Given the description of an element on the screen output the (x, y) to click on. 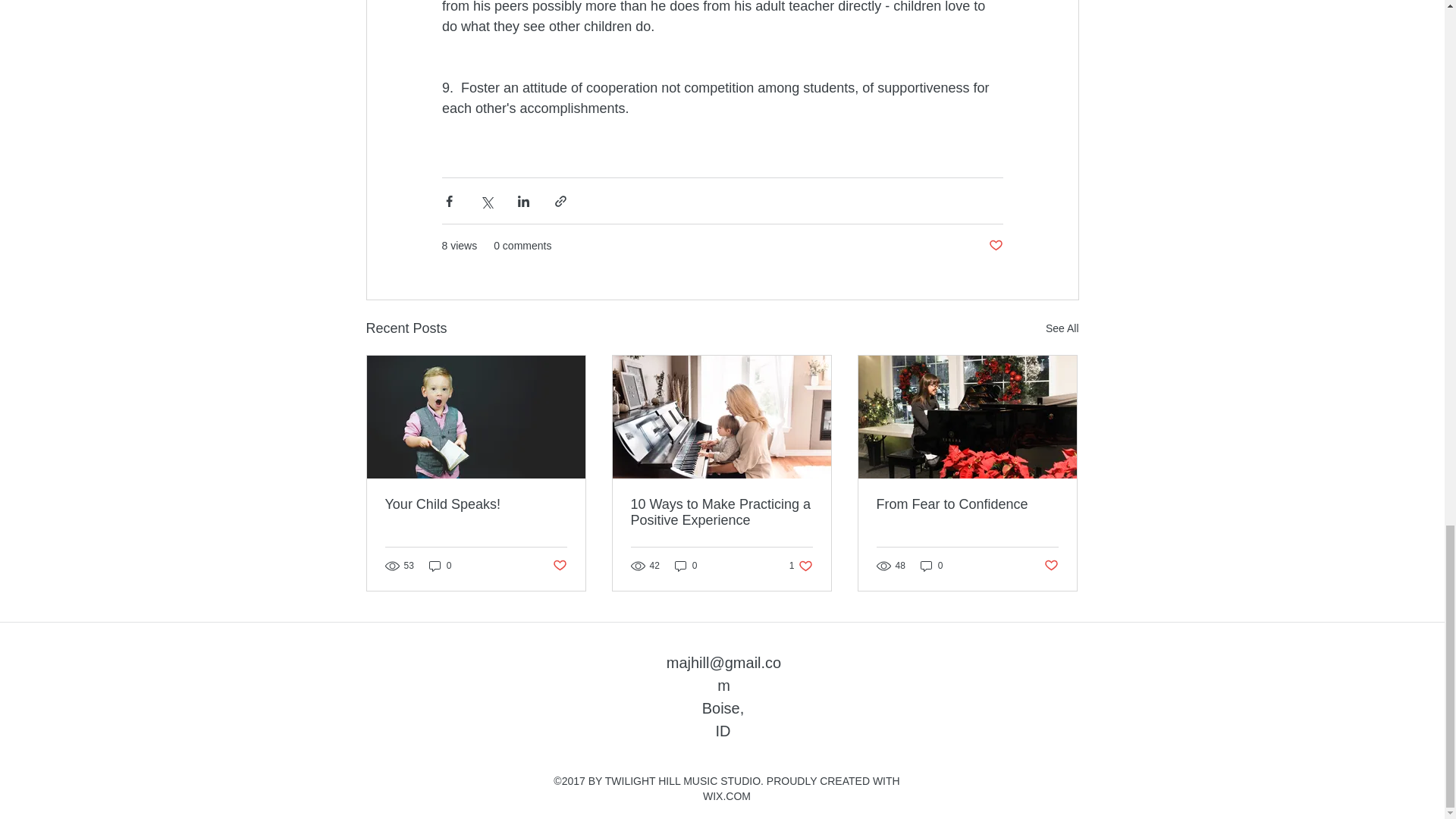
See All (1061, 328)
0 (685, 565)
0 (931, 565)
10 Ways to Make Practicing a Positive Experience (721, 512)
Post not marked as liked (995, 245)
Your Child Speaks! (476, 504)
From Fear to Confidence (800, 565)
0 (967, 504)
Post not marked as liked (440, 565)
